Given the description of an element on the screen output the (x, y) to click on. 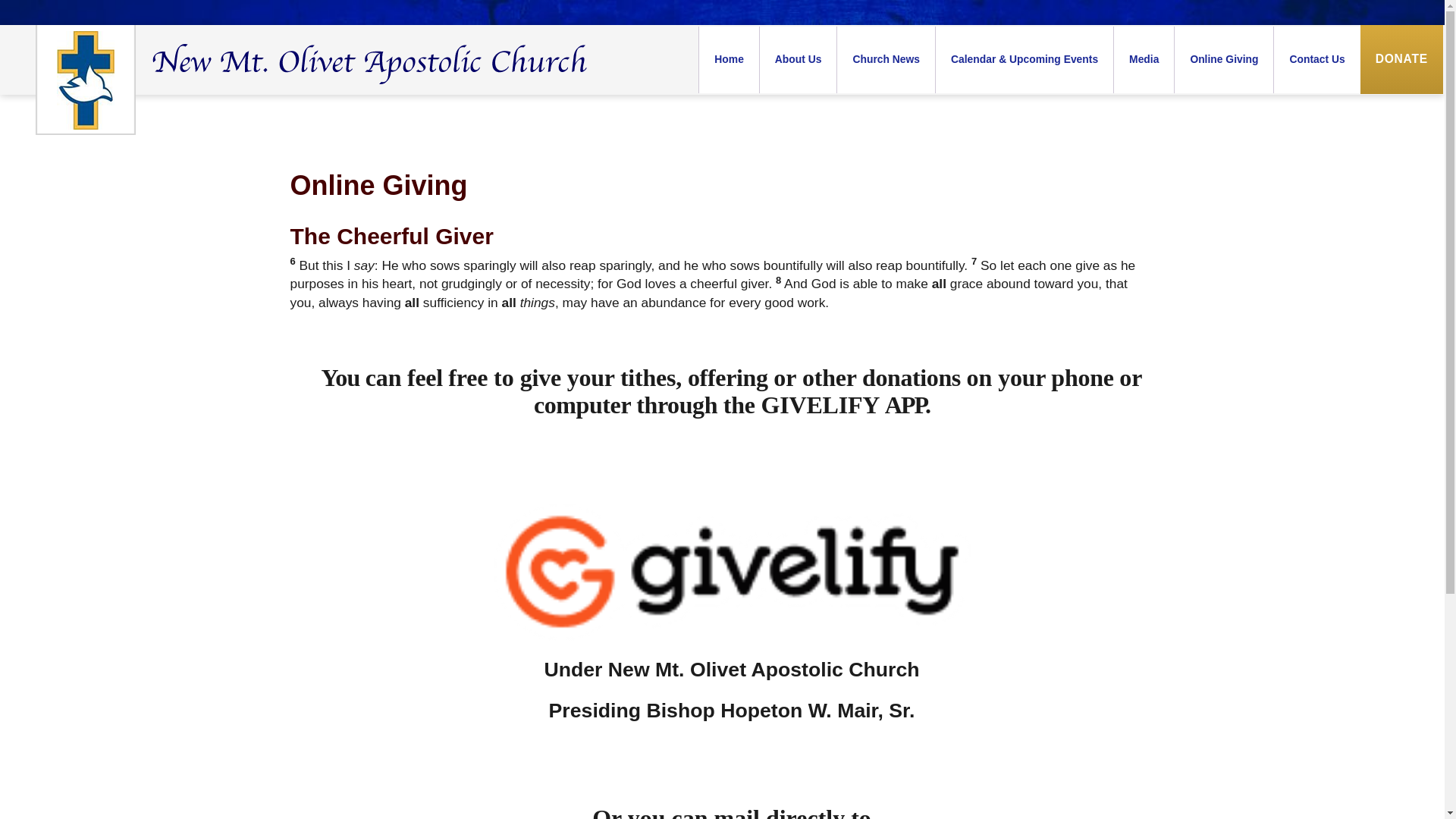
DONATE (1400, 59)
Home (728, 59)
Contact Us (1315, 59)
New Mt. Olivet Apostolic Church (298, 80)
Church News (884, 59)
Media (1143, 59)
Online Giving (1222, 59)
About Us (797, 59)
